Given the description of an element on the screen output the (x, y) to click on. 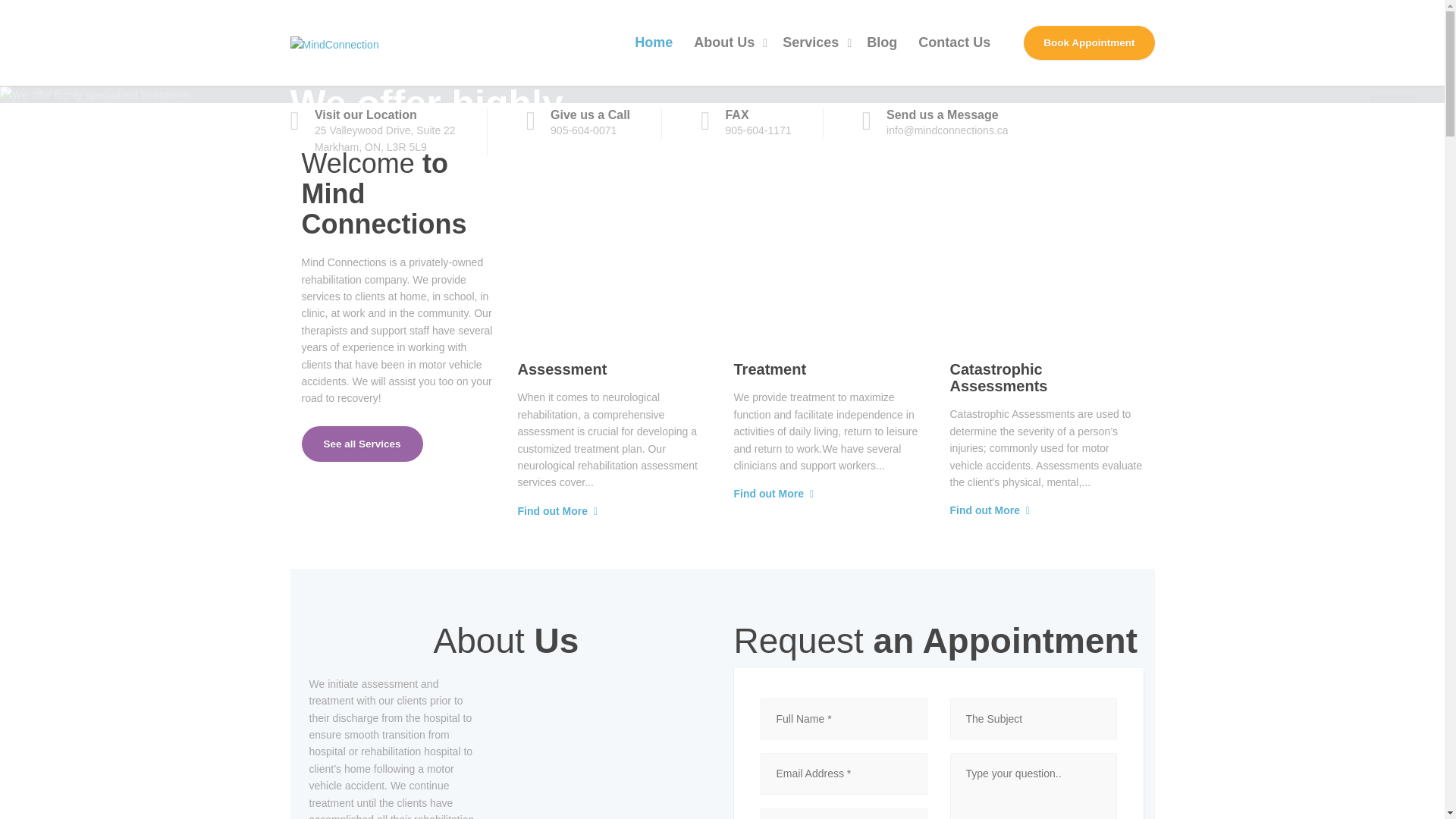
Catastrophic Assessments (997, 377)
About Us (726, 42)
Services (813, 42)
Treatment (769, 369)
Blog (881, 42)
Contact Us (954, 42)
Find out More (984, 510)
See all Services (362, 443)
Home (653, 42)
Assessment (561, 369)
Book Appointment (1088, 42)
Find out More (552, 510)
MindConnection (333, 42)
Find out More (769, 493)
